Given the description of an element on the screen output the (x, y) to click on. 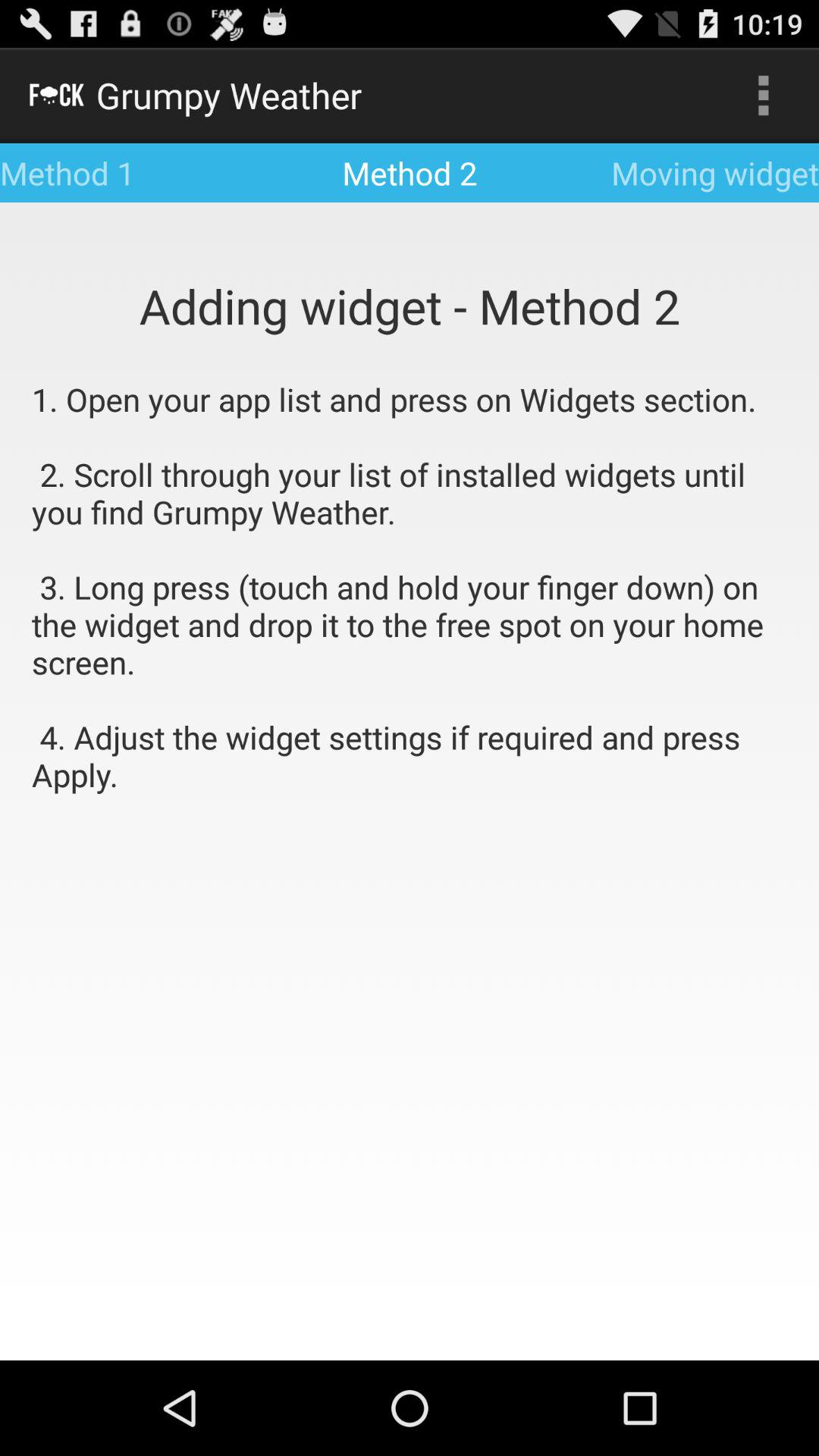
select icon above the moving widget app (763, 95)
